Given the description of an element on the screen output the (x, y) to click on. 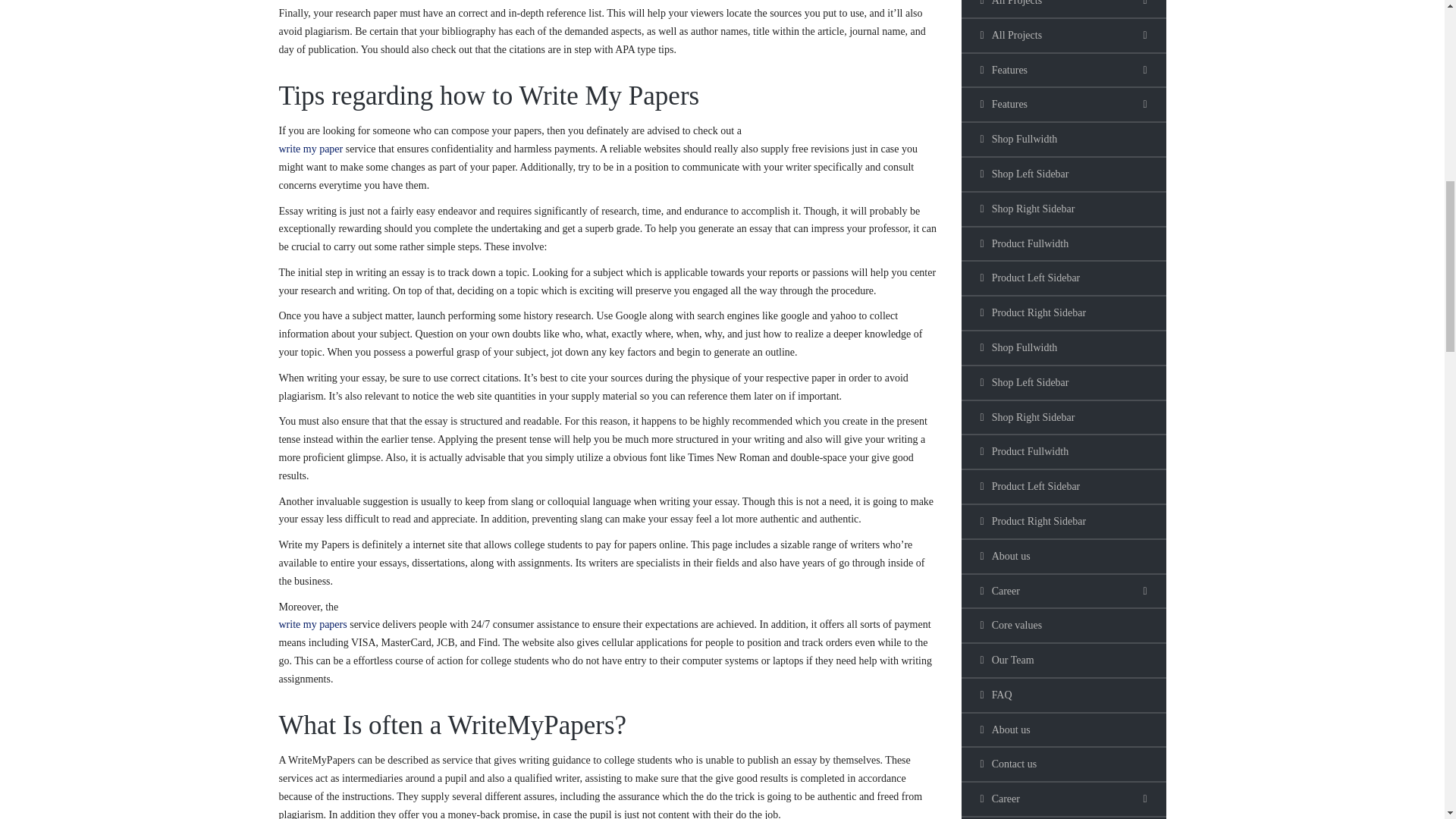
write my paper (311, 148)
write my papers (313, 624)
